Given the description of an element on the screen output the (x, y) to click on. 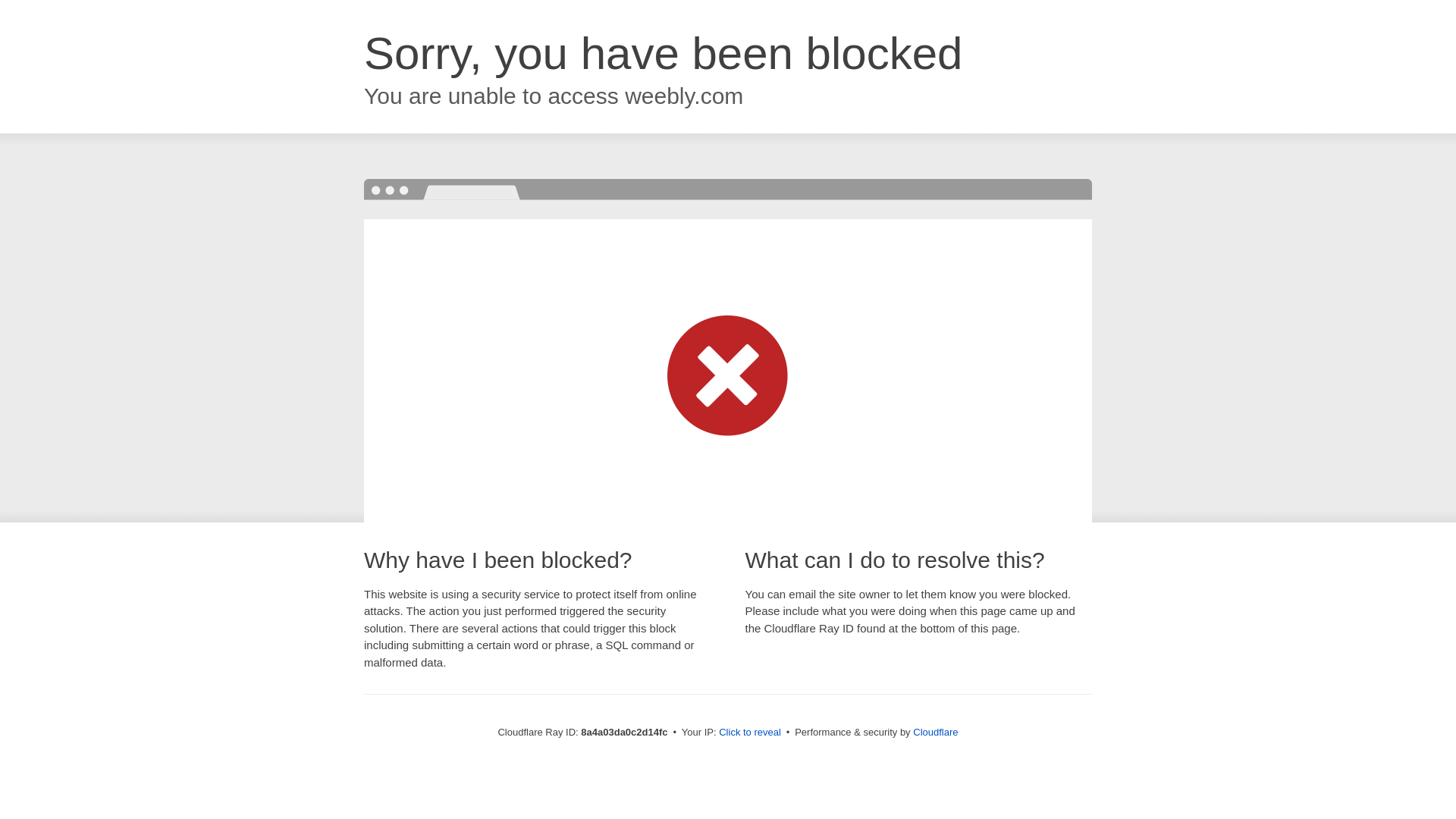
Click to reveal (749, 732)
Cloudflare (935, 731)
